Given the description of an element on the screen output the (x, y) to click on. 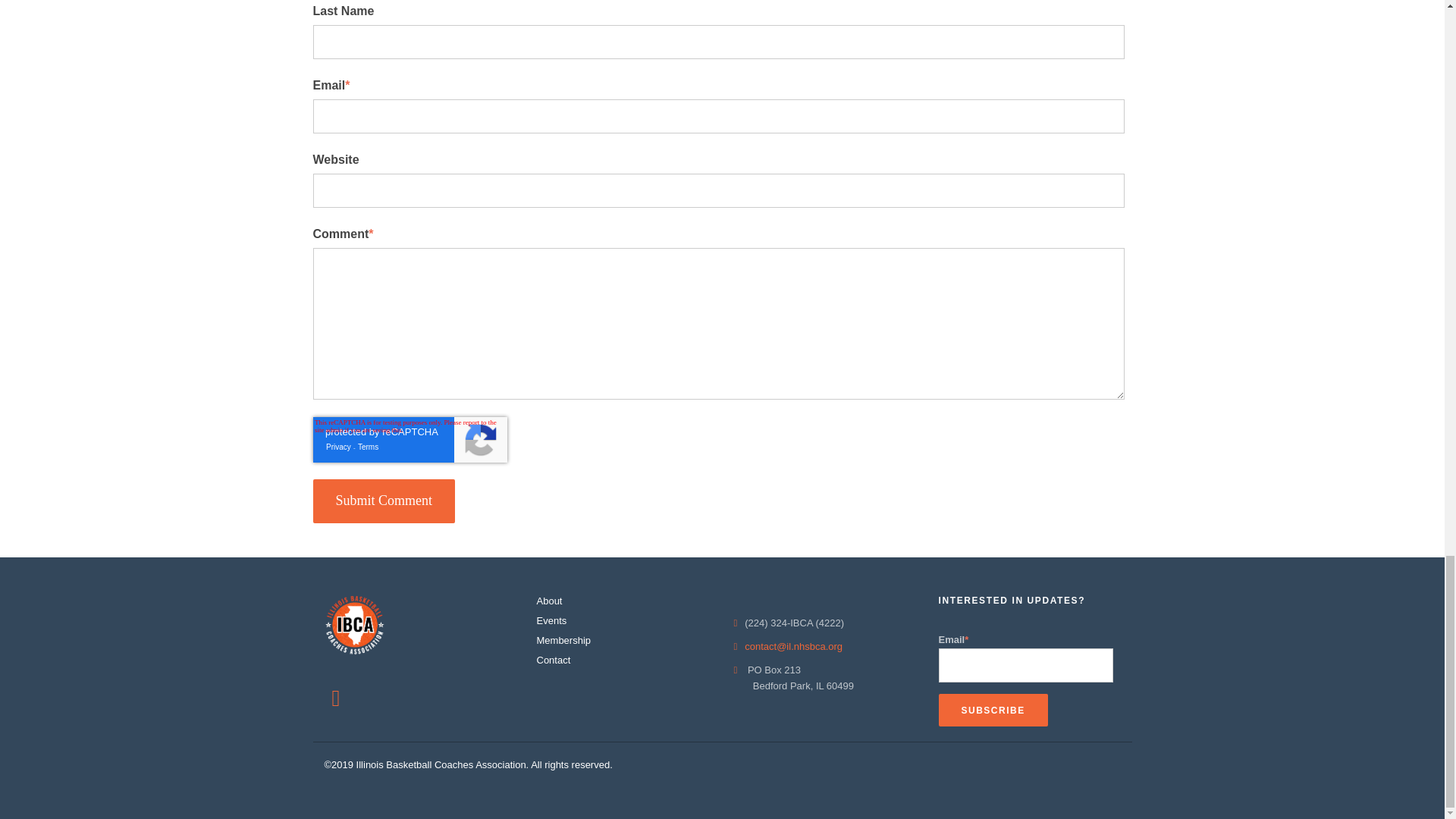
reCAPTCHA (409, 439)
Submit Comment (383, 501)
Subscribe (993, 709)
IBCA Secondary Logo 2.3 (354, 625)
